Given the description of an element on the screen output the (x, y) to click on. 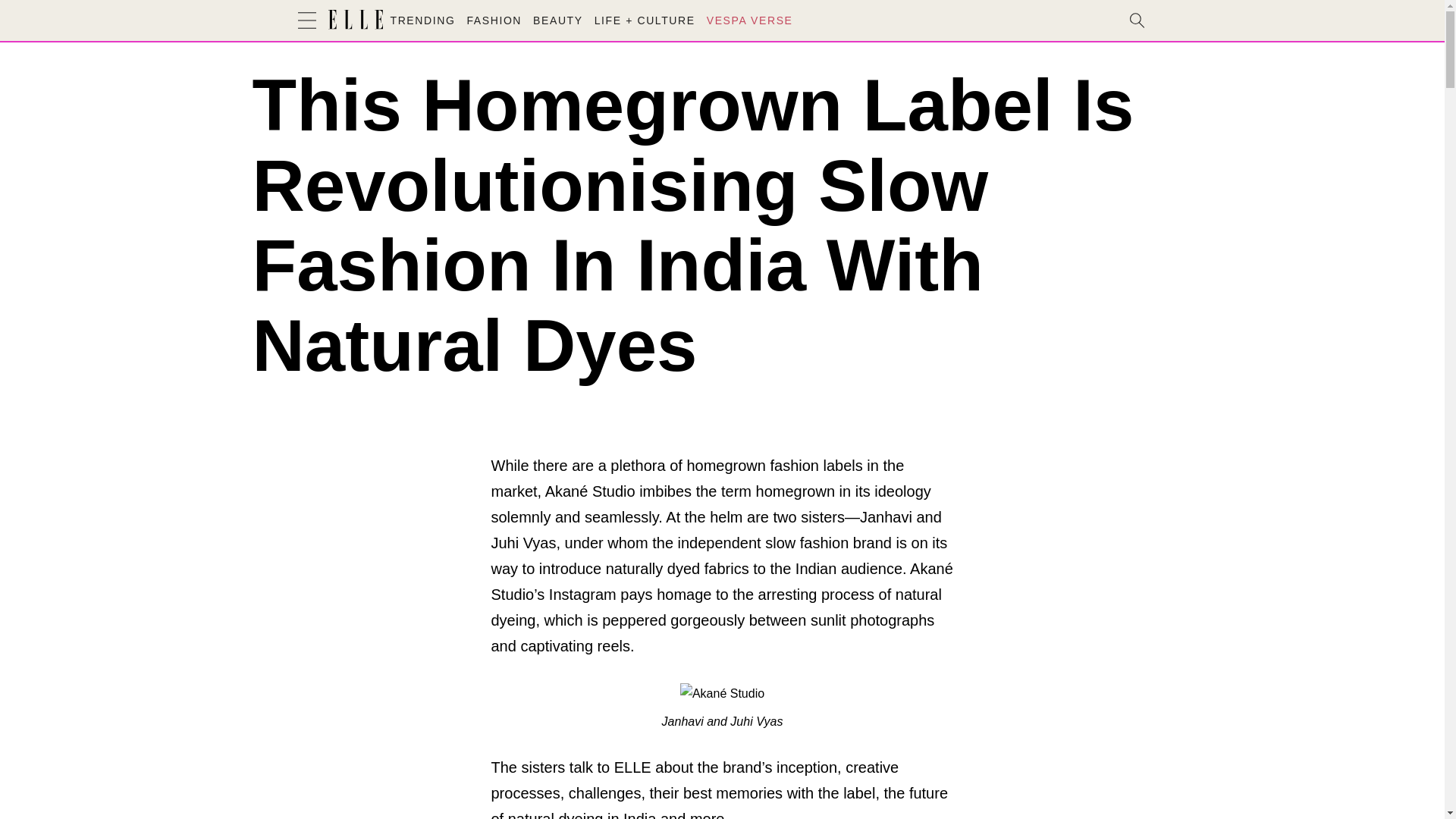
TRENDING (422, 20)
FASHION (493, 20)
VESPA VERSE (749, 20)
BEAUTY (557, 20)
